Given the description of an element on the screen output the (x, y) to click on. 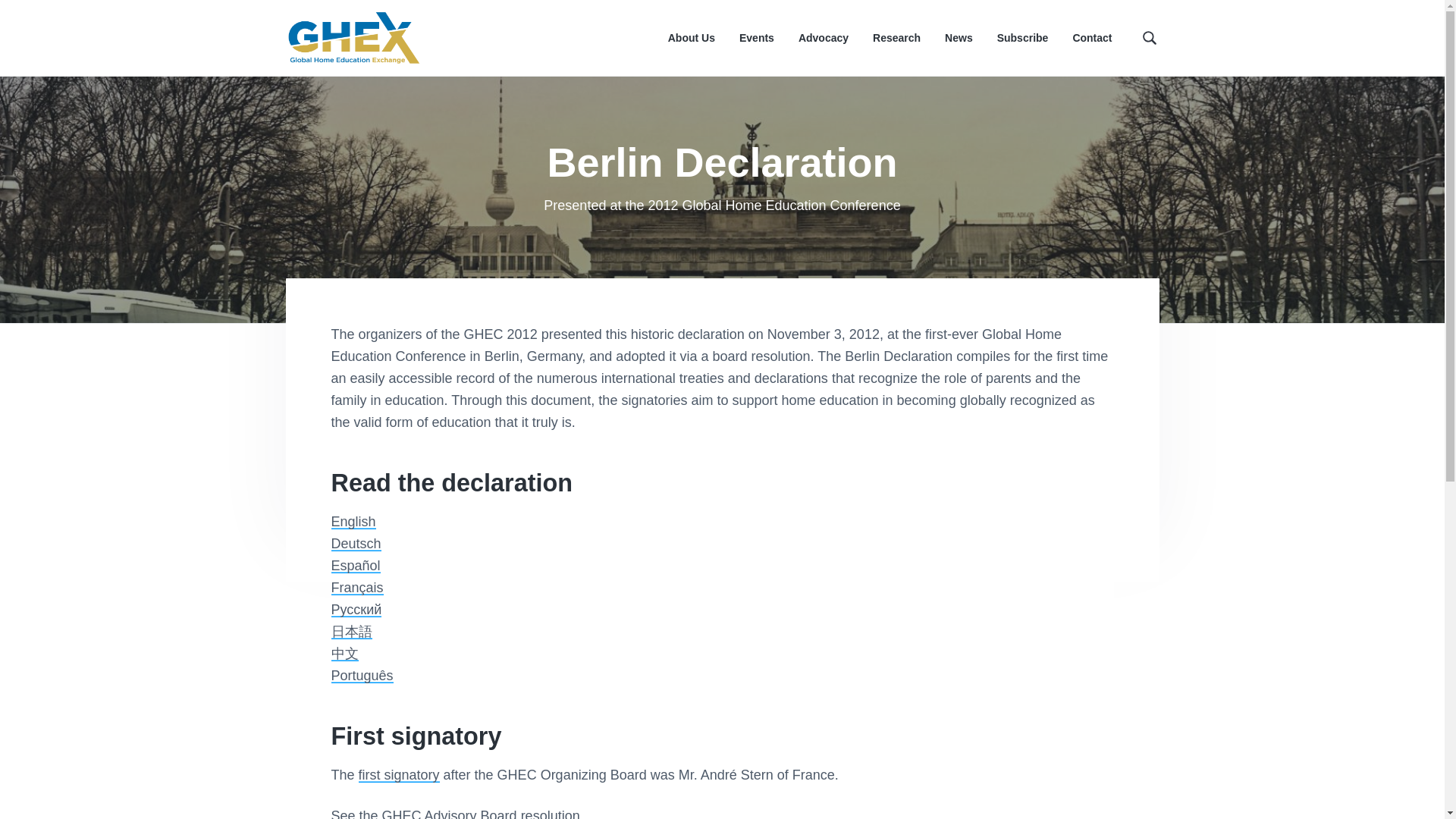
Subscribe (1022, 37)
English (352, 521)
Research (896, 37)
Advocacy (822, 37)
Deutsch (355, 543)
Events (756, 37)
Search (60, 18)
News (958, 37)
Contact (1091, 37)
About Us (691, 37)
